Given the description of an element on the screen output the (x, y) to click on. 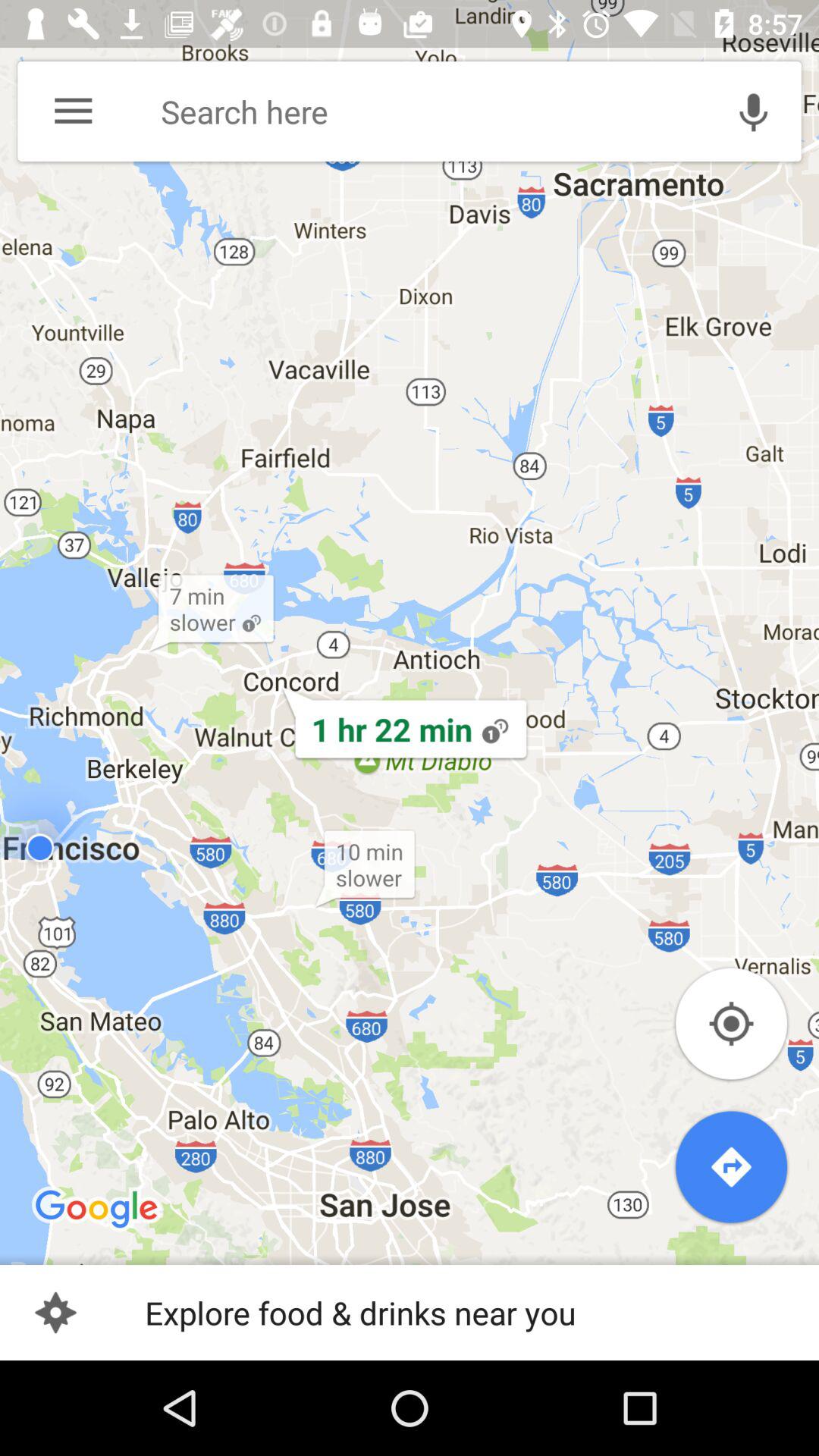
click on google at the bottom left of page (96, 1209)
click on the record icon from the right top (753, 111)
click on the menu option on the top left of the page (73, 111)
select directions icon above explore foods  drinks near you (731, 1166)
select location symbol at the bottom right corner of the page (731, 1023)
click on the icon before the text explore food  drinks near you (55, 1312)
click on the last icon which is at the right bottom of the page (731, 1166)
